Given the description of an element on the screen output the (x, y) to click on. 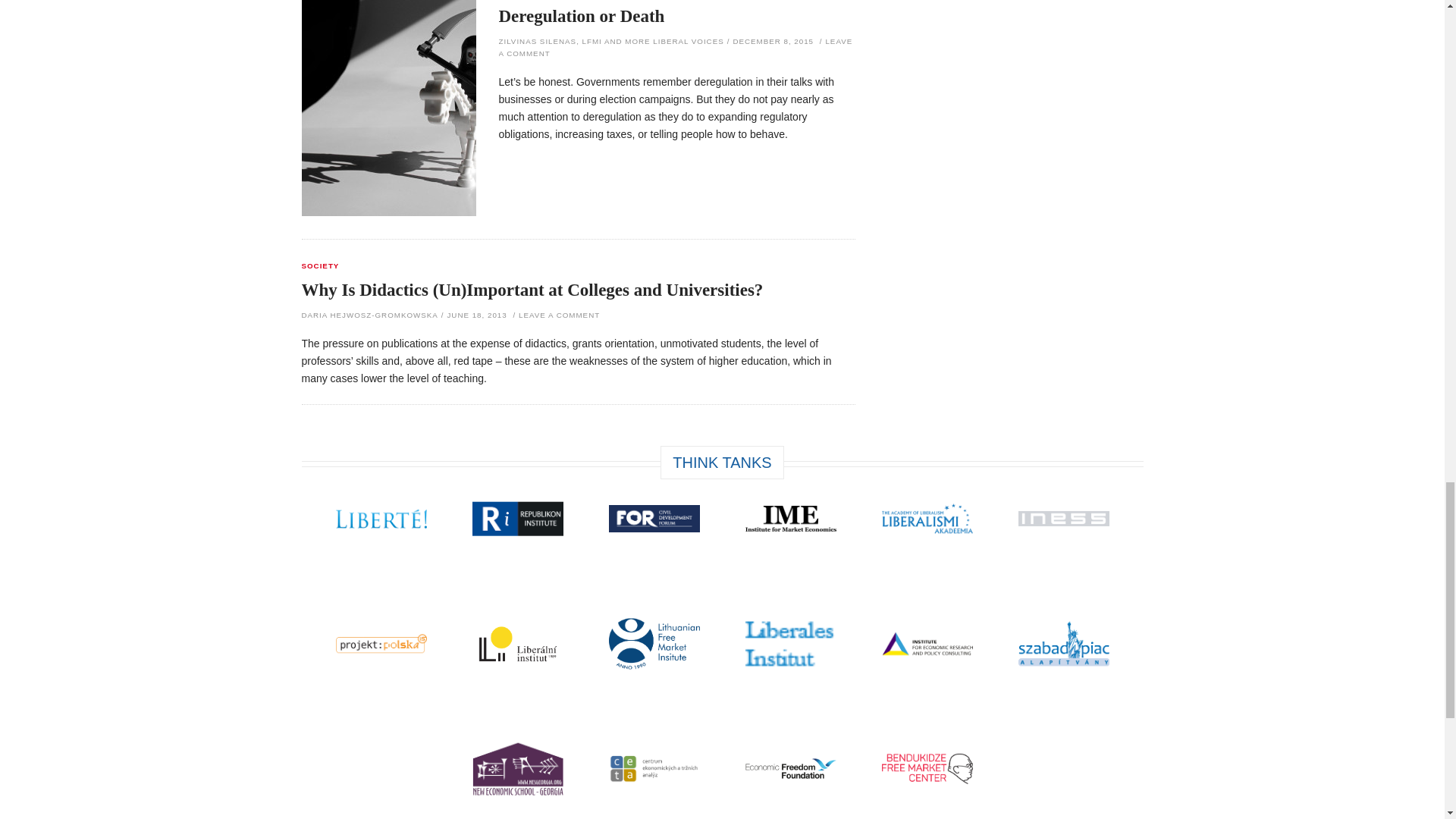
Posts by Zilvinas Silenas (537, 40)
Posts by Daria Hejwosz-Gromkowska (369, 315)
Posts by LFMI (592, 40)
Posts by More Liberal Voices (673, 40)
